Given the description of an element on the screen output the (x, y) to click on. 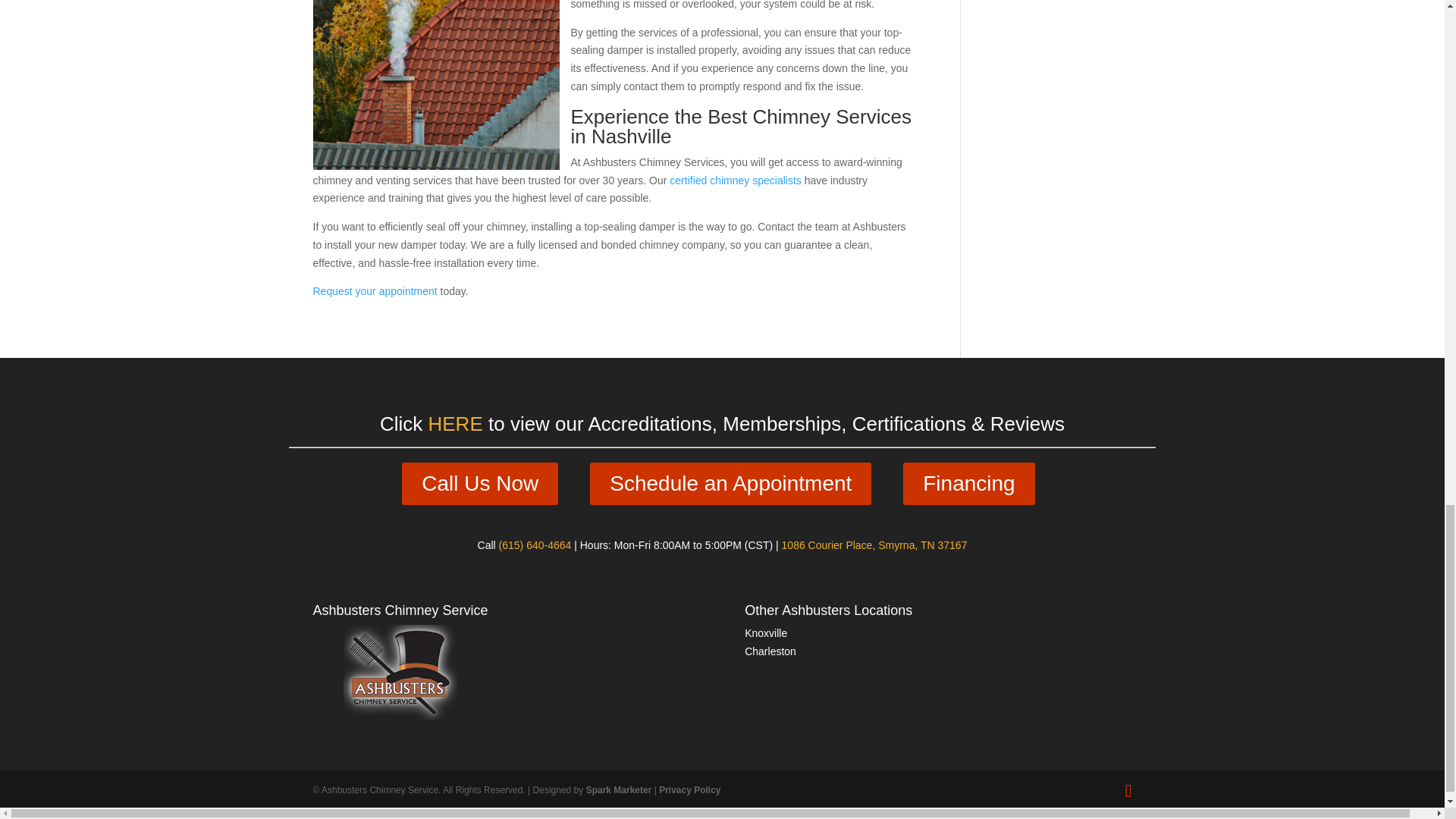
certified chimney specialists (733, 179)
Ashbusters Chimney (400, 715)
The systems and people to help local service businesses win. (619, 789)
